Given the description of an element on the screen output the (x, y) to click on. 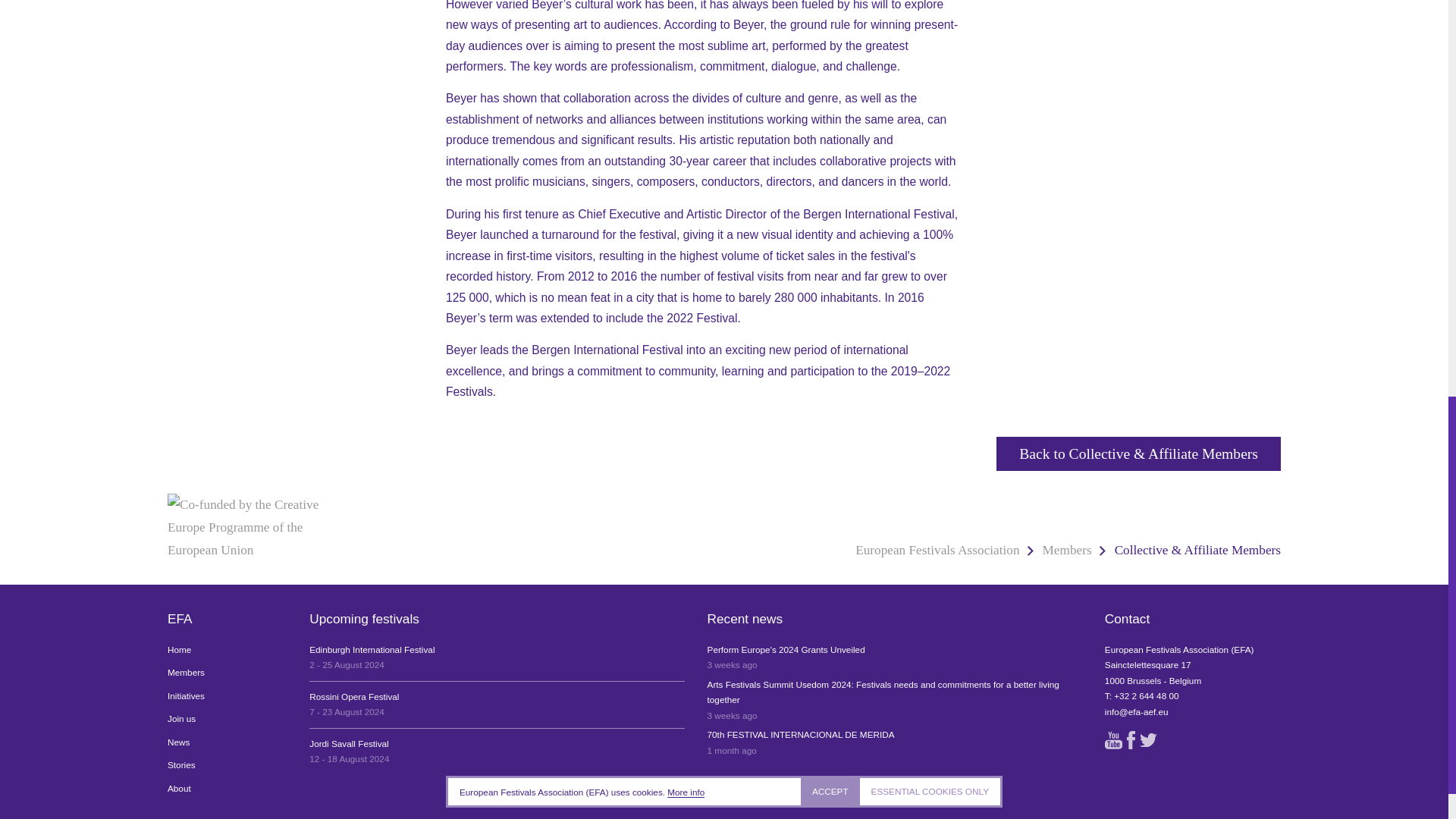
European Festivals Association (937, 549)
Members (1067, 549)
Stories (226, 765)
Members (894, 742)
Youtube (496, 704)
Home (226, 672)
About (1113, 739)
Initiatives (496, 657)
News (226, 650)
Join us (496, 751)
